Given the description of an element on the screen output the (x, y) to click on. 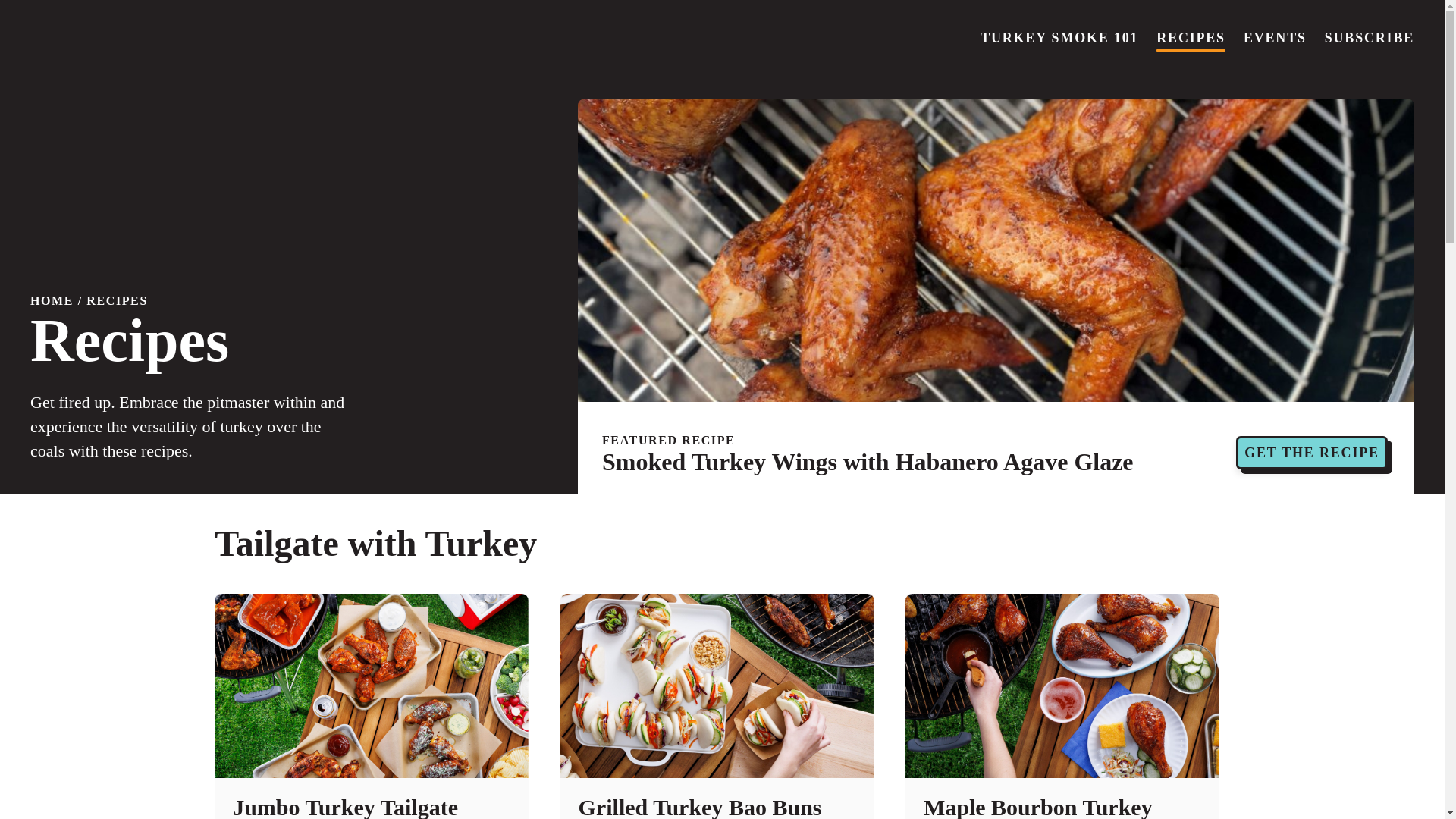
RECIPES (116, 300)
HOME (52, 300)
RECIPES (1190, 39)
GET THE RECIPE (1312, 452)
EVENTS (1274, 39)
TURKEY SMOKE 101 (1058, 39)
SUBSCRIBE (1368, 39)
